Given the description of an element on the screen output the (x, y) to click on. 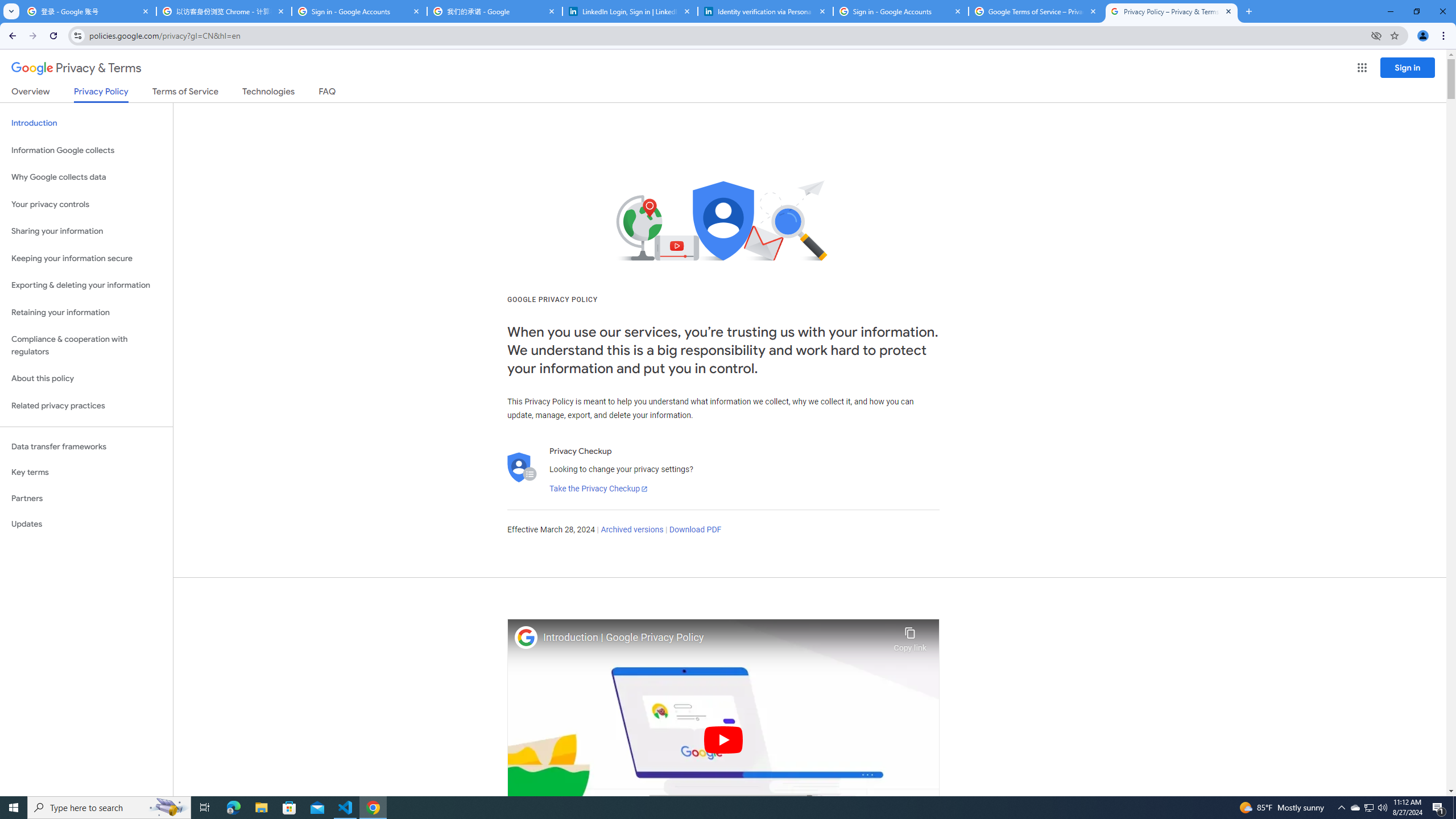
Identity verification via Persona | LinkedIn Help (765, 11)
Information Google collects (86, 150)
About this policy (86, 379)
Sharing your information (86, 230)
Exporting & deleting your information (86, 284)
Related privacy practices (86, 405)
Copy link (909, 636)
